Given the description of an element on the screen output the (x, y) to click on. 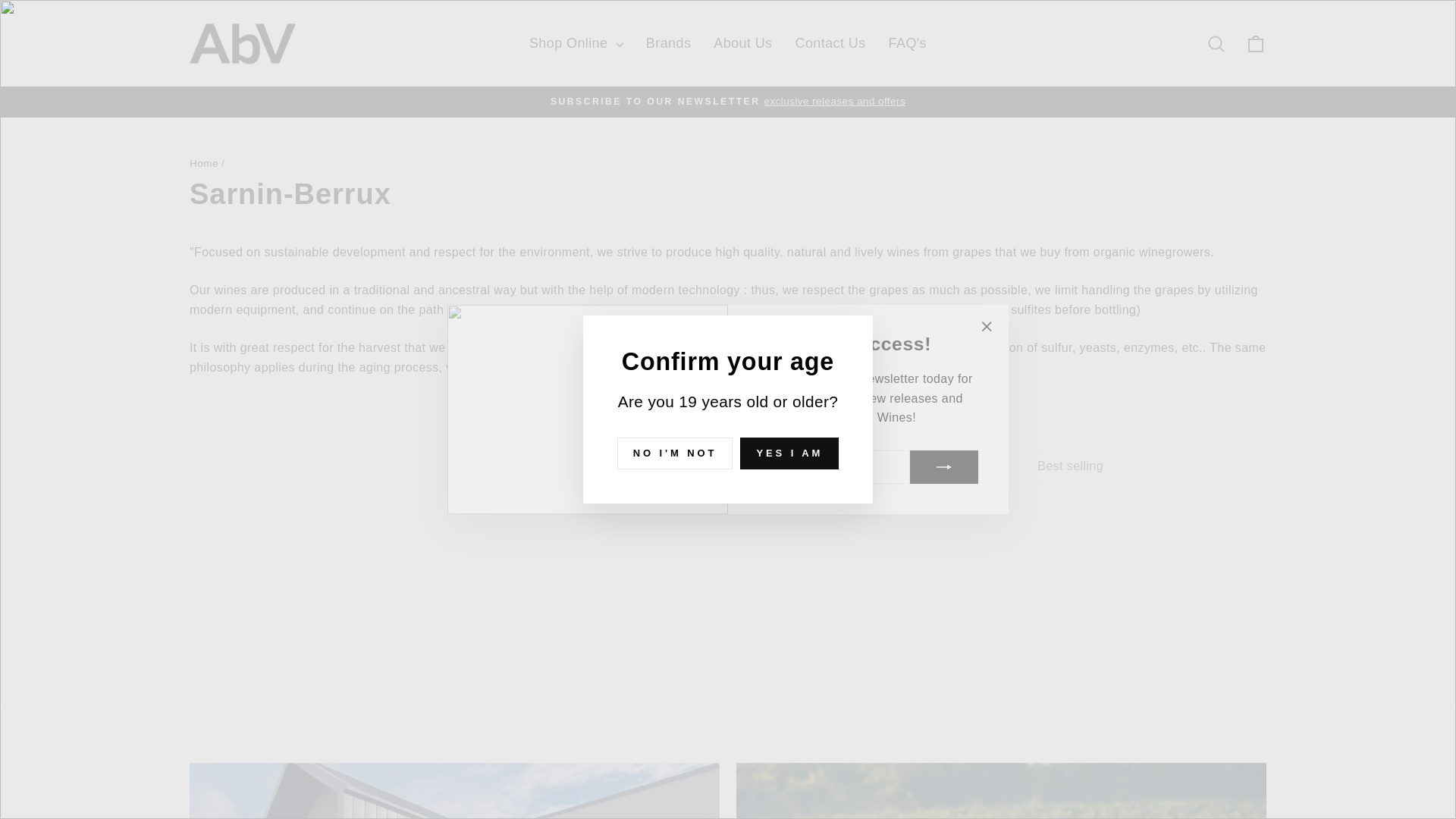
icon-bag-minimal (1255, 43)
Back to the frontpage (203, 163)
icon-X (986, 326)
icon-search (1216, 43)
